Given the description of an element on the screen output the (x, y) to click on. 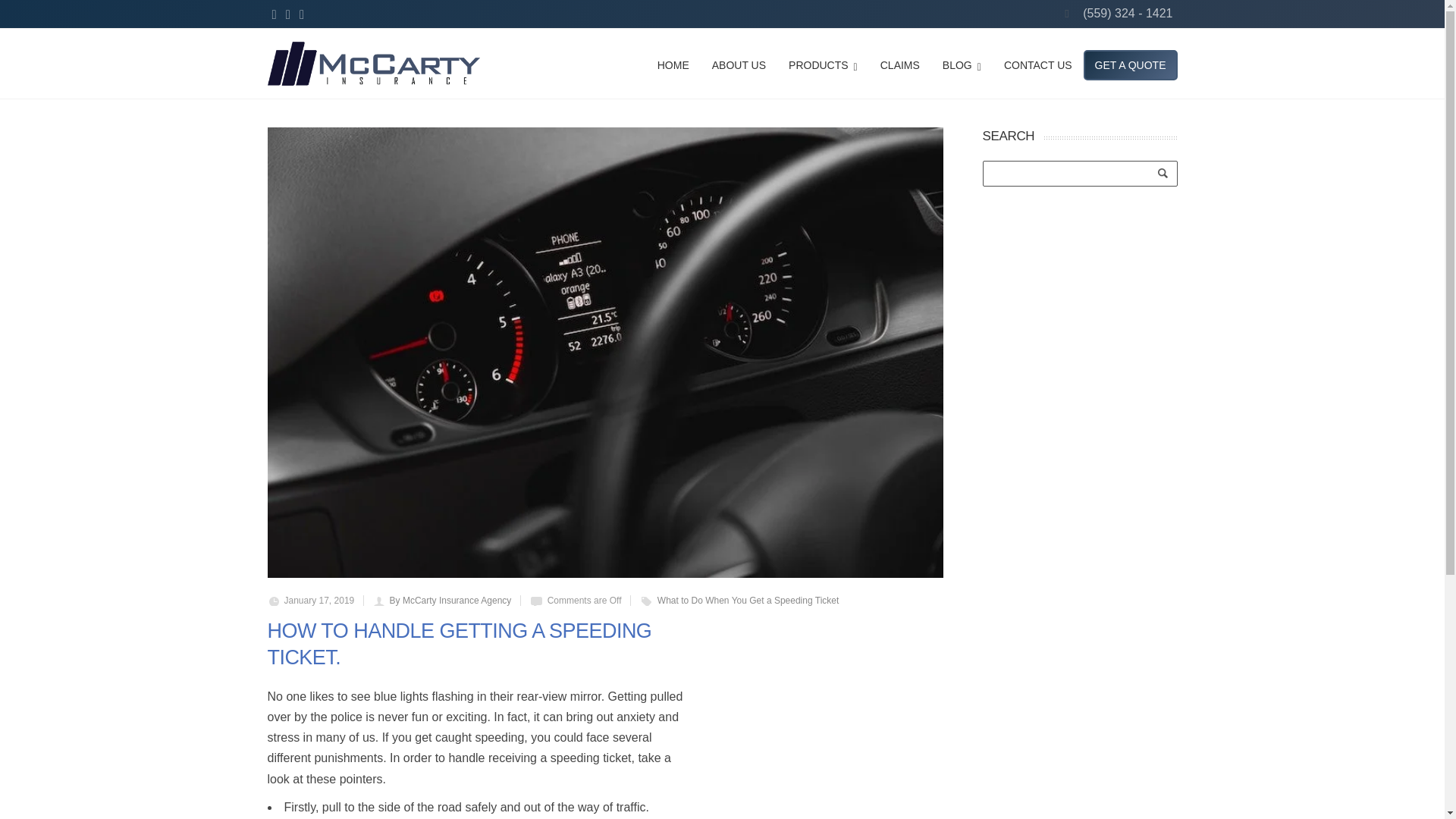
CLAIMS (900, 63)
General Articles (943, 41)
Home (882, 41)
What to Do When You Get a Speeding Ticket (943, 41)
ABOUT US (738, 63)
CONTACT US (1037, 63)
LinkedIn (273, 15)
What to Do When You Get a Speeding Ticket (1079, 41)
By McCarty Insurance Agency (451, 600)
Facebook (301, 15)
